Given the description of an element on the screen output the (x, y) to click on. 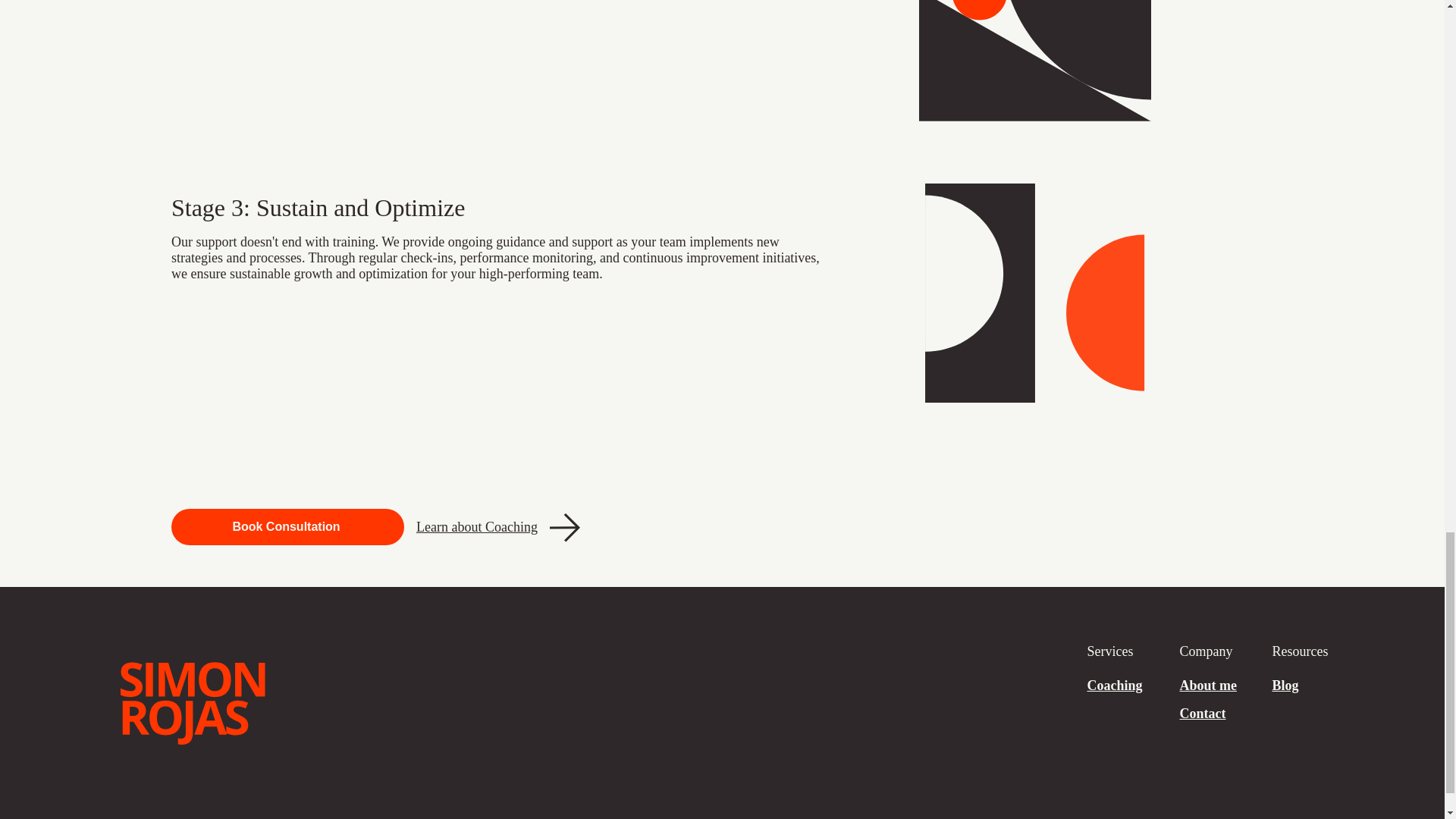
Book Consultation (287, 526)
Contact (1202, 713)
About me (1207, 685)
Coaching (1113, 685)
Blog (1284, 685)
